Given the description of an element on the screen output the (x, y) to click on. 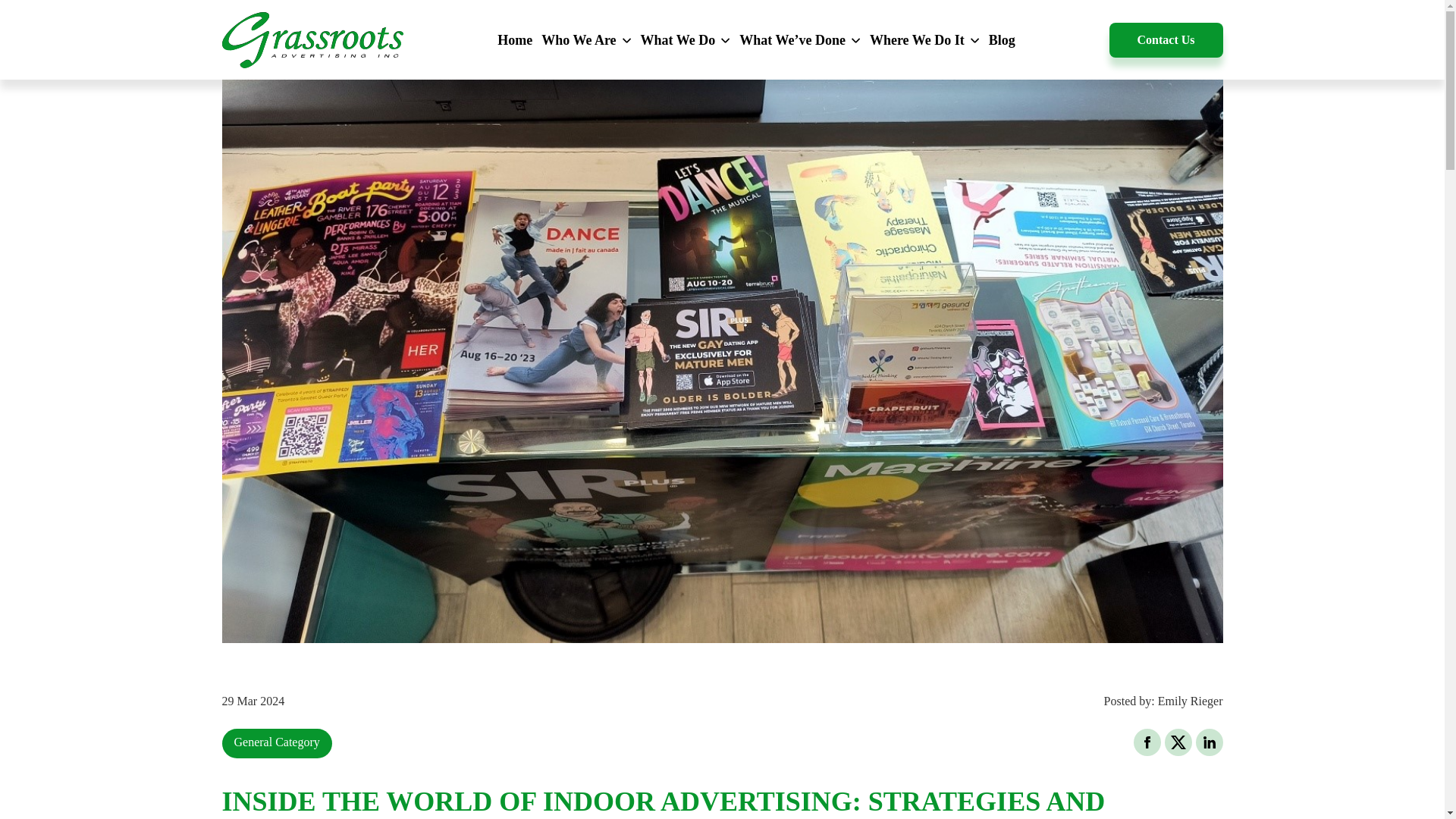
Where We Do It (924, 39)
What We Do (685, 39)
General Category (276, 741)
Grassroots Advertising (312, 40)
Share on Facebook (1146, 741)
Who We Are (585, 39)
Share on Twitter (1178, 741)
Share on LinkedIn (1209, 741)
Emily Rieger (1190, 701)
Contact Us (1165, 39)
